Given the description of an element on the screen output the (x, y) to click on. 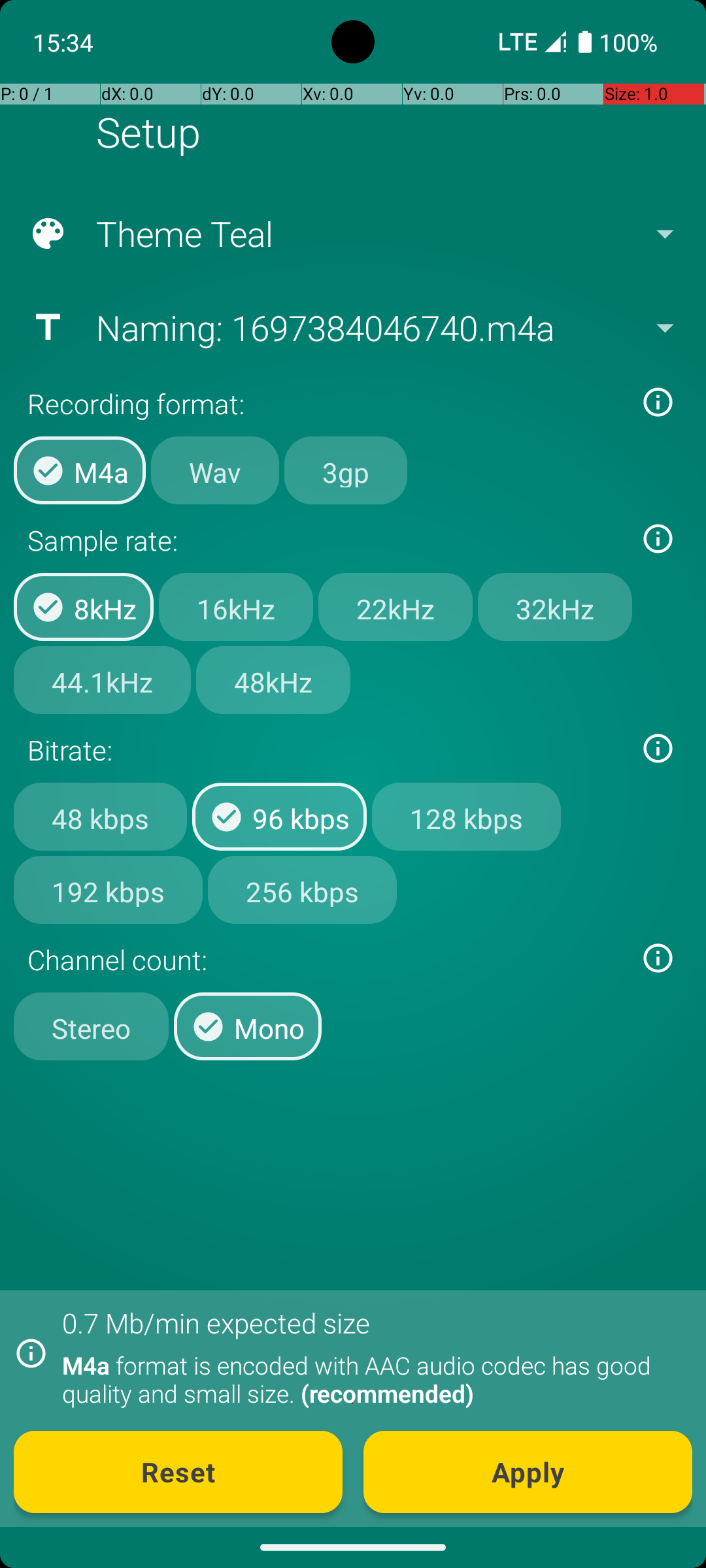
0.7 Mb/min expected size Element type: android.widget.TextView (215, 1322)
Theme Teal Element type: android.widget.TextView (352, 233)
Naming: 1697384046740.m4a Element type: android.widget.TextView (352, 327)
